Given the description of an element on the screen output the (x, y) to click on. 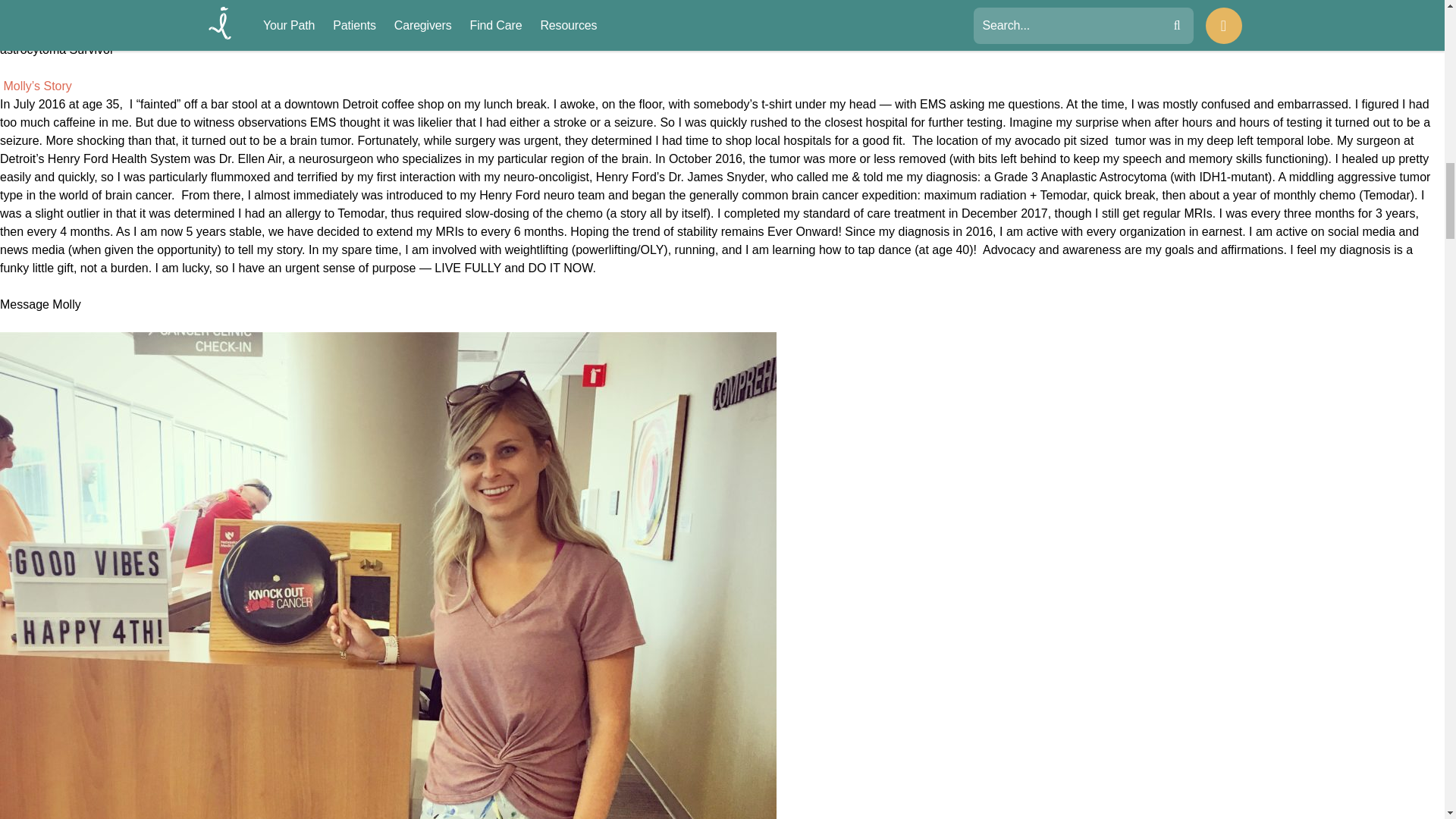
Message Molly (40, 313)
